Given the description of an element on the screen output the (x, y) to click on. 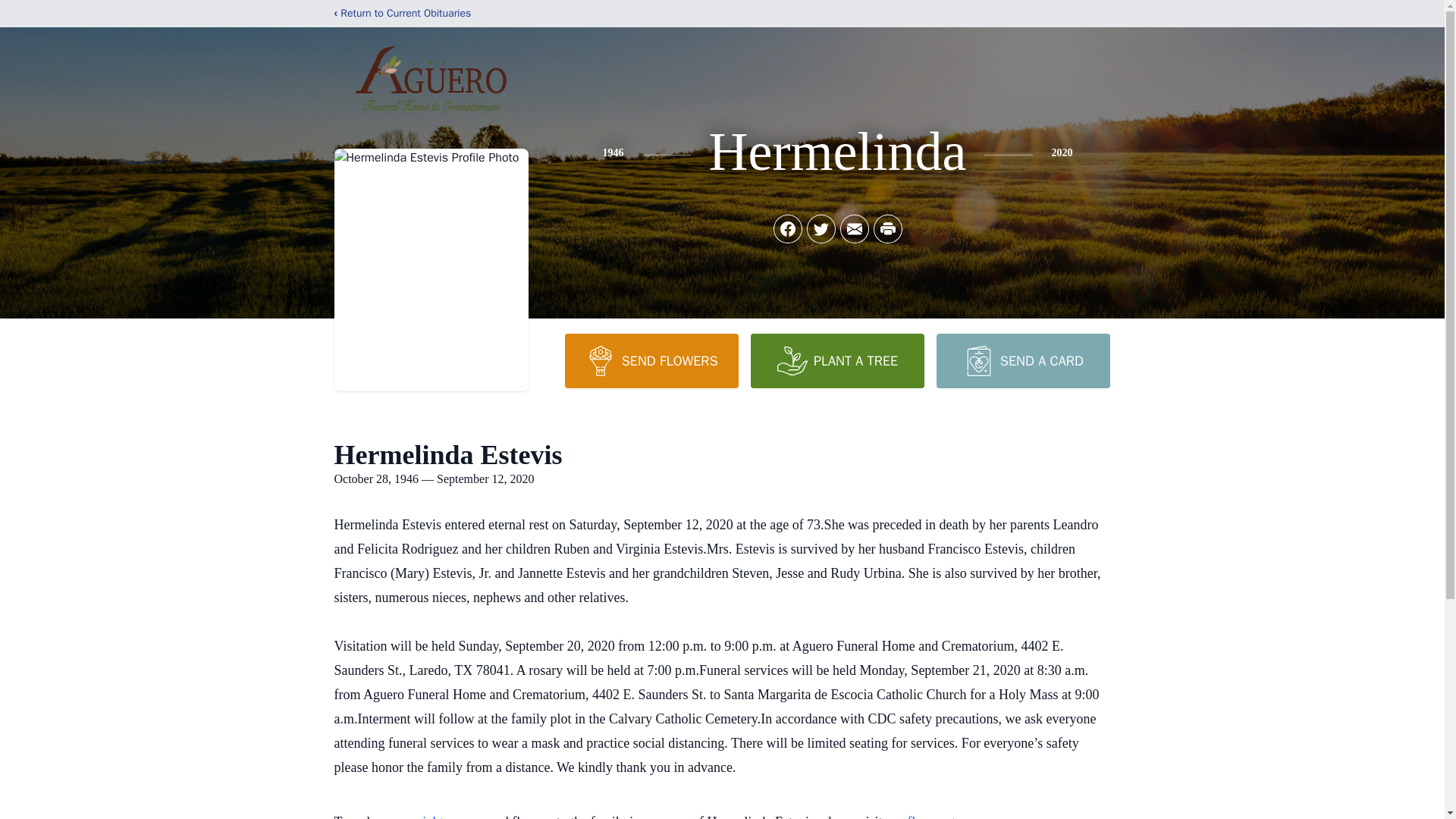
flower store (939, 816)
PLANT A TREE (837, 360)
SEND FLOWERS (651, 360)
SEND A CARD (1022, 360)
memorial trees (424, 816)
